Given the description of an element on the screen output the (x, y) to click on. 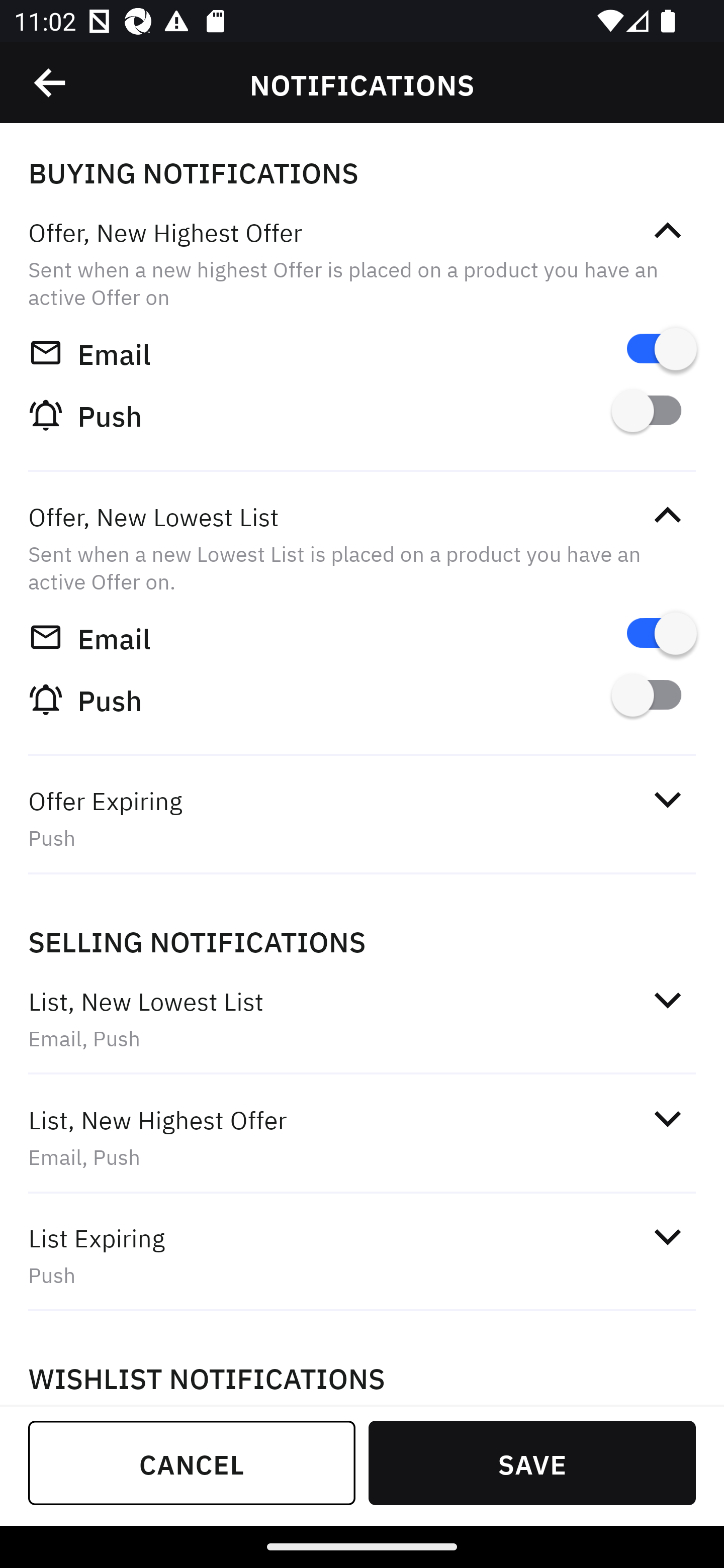
 (50, 83)
 (667, 231)
 (667, 514)
Offer Expiring  Push (361, 818)
 (667, 799)
List, New Lowest List  Email, Push (361, 1018)
 (667, 999)
List, New Highest Offer  Email, Push (361, 1137)
 (667, 1118)
List Expiring  Push (361, 1254)
 (667, 1236)
CANCEL (191, 1462)
SAVE (531, 1462)
